Given the description of an element on the screen output the (x, y) to click on. 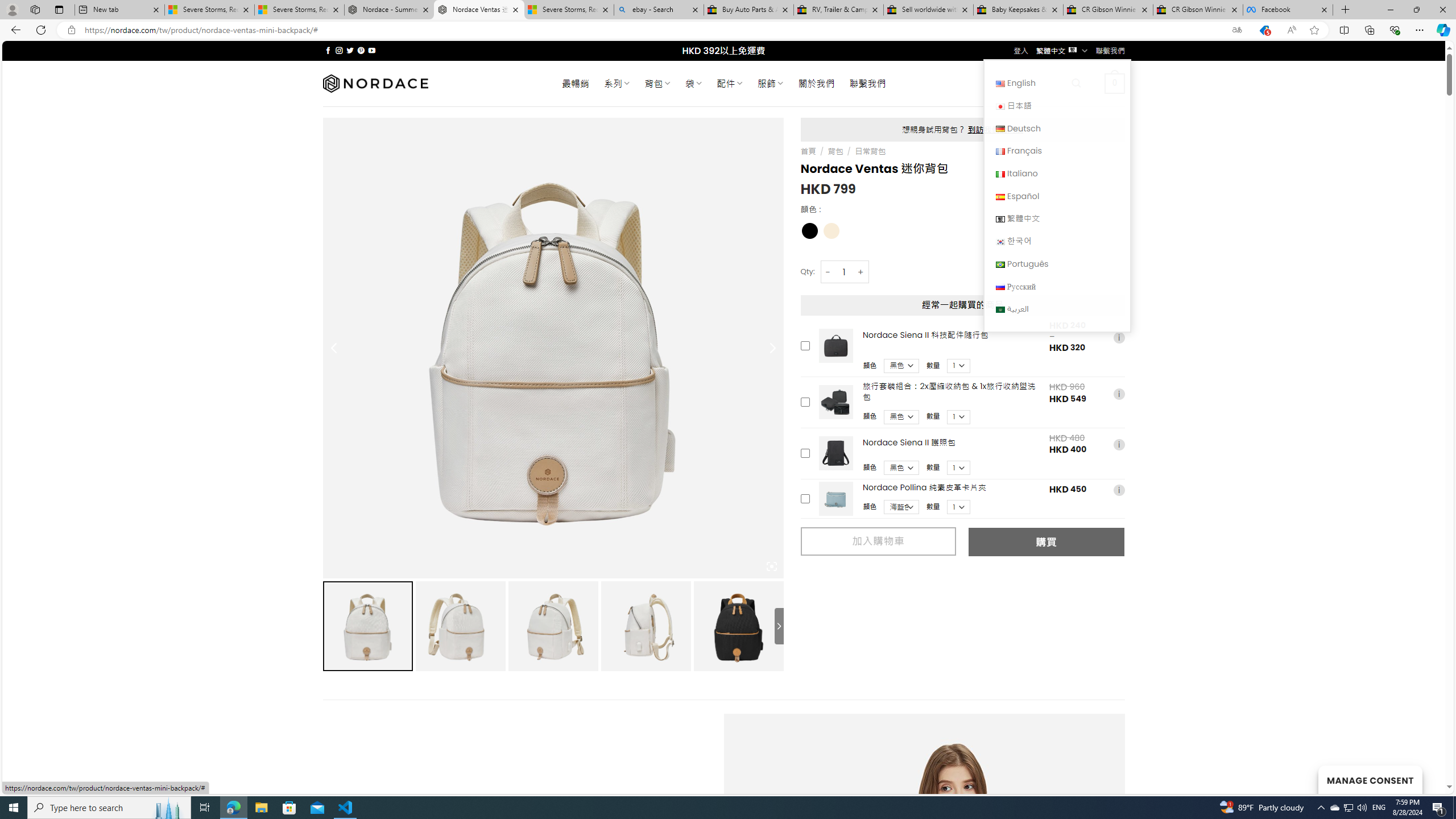
MANAGE CONSENT (1369, 779)
